Given the description of an element on the screen output the (x, y) to click on. 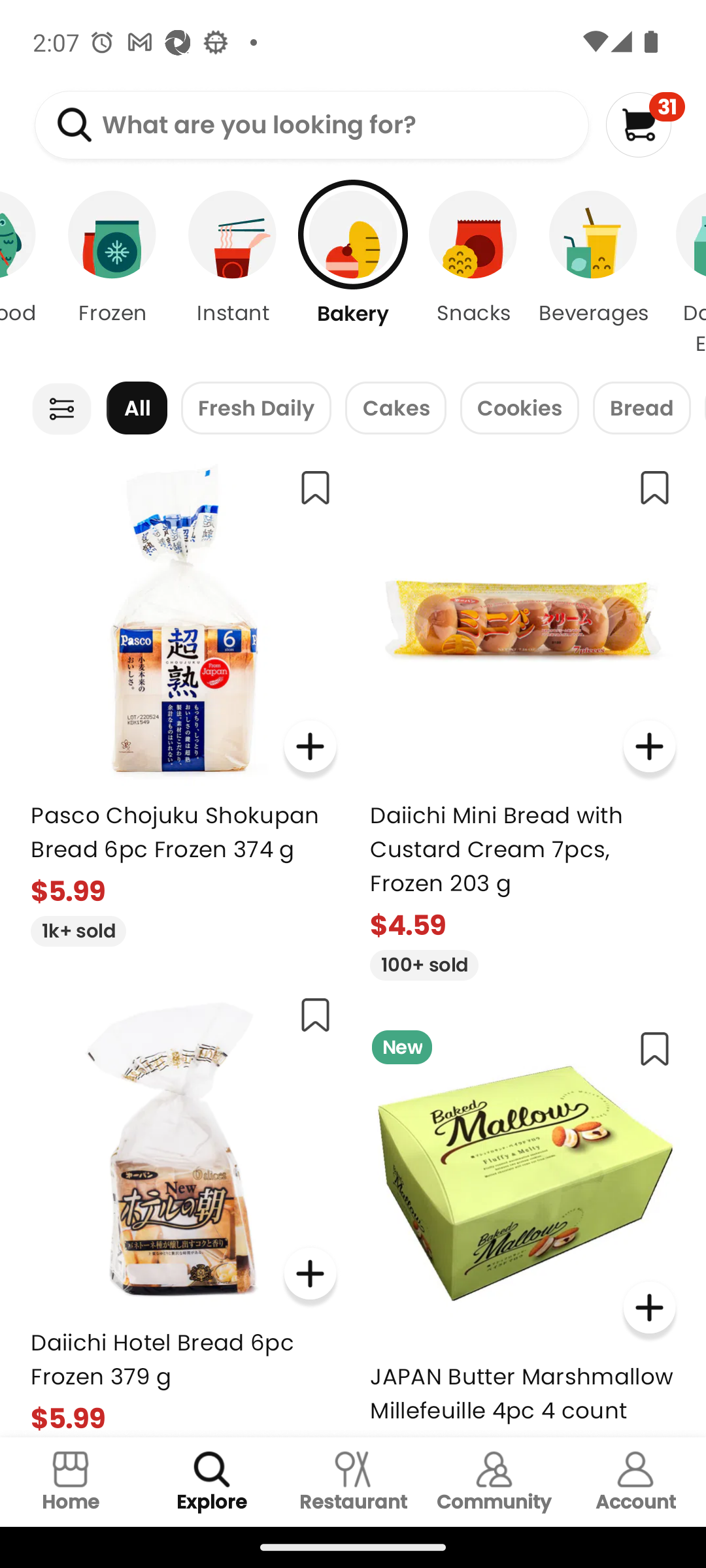
What are you looking for? (311, 124)
31 (644, 124)
Frozen (112, 274)
Instant (232, 274)
Bakery (352, 274)
Snacks (473, 274)
Beverages (593, 274)
All (136, 407)
Fresh Daily (255, 407)
Cakes (395, 407)
Cookies (519, 407)
Bread (642, 407)
Daiichi Hotel Bread 6pc Frozen 379 g $5.99 (182, 1208)
Home (70, 1482)
Explore (211, 1482)
Restaurant (352, 1482)
Community (493, 1482)
Account (635, 1482)
